Given the description of an element on the screen output the (x, y) to click on. 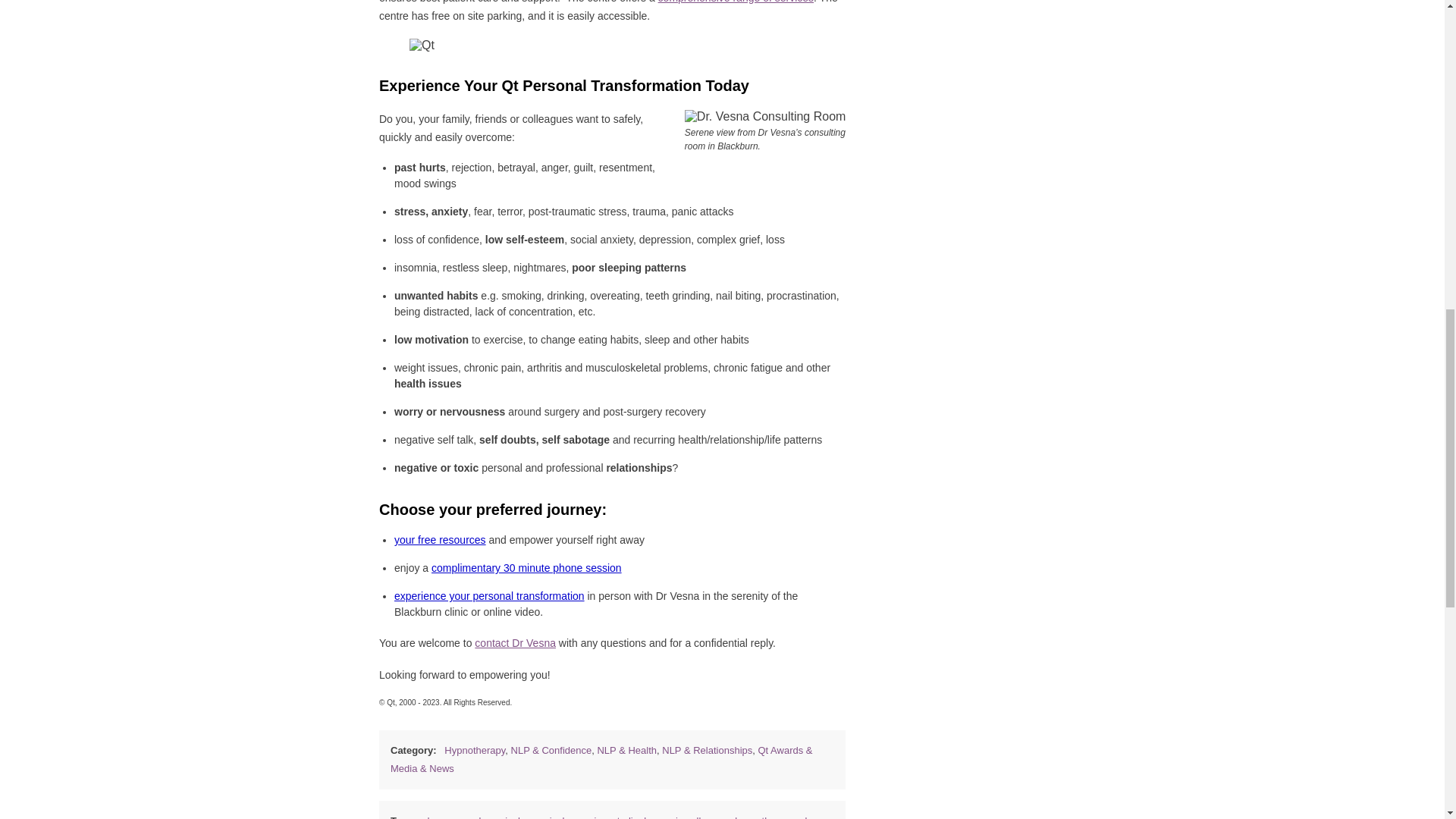
contact Dr Vesna (515, 643)
complimentary 30 minute phone session (525, 567)
experience your personal transformation (489, 595)
comprehensive range of services (735, 2)
your free resources (440, 539)
